Given the description of an element on the screen output the (x, y) to click on. 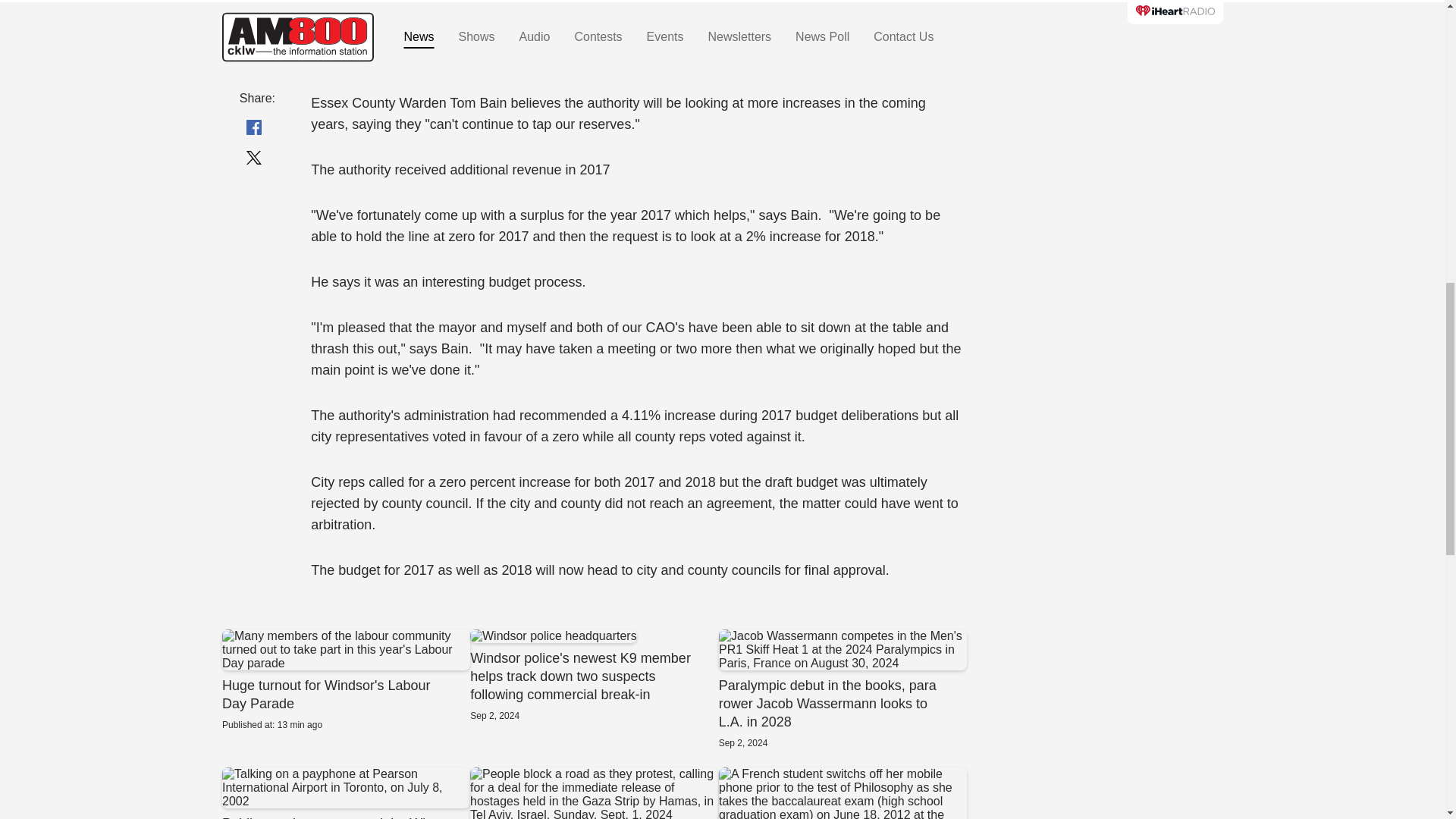
Huge turnout for Windsor's Labour Day Parade (344, 680)
